Given the description of an element on the screen output the (x, y) to click on. 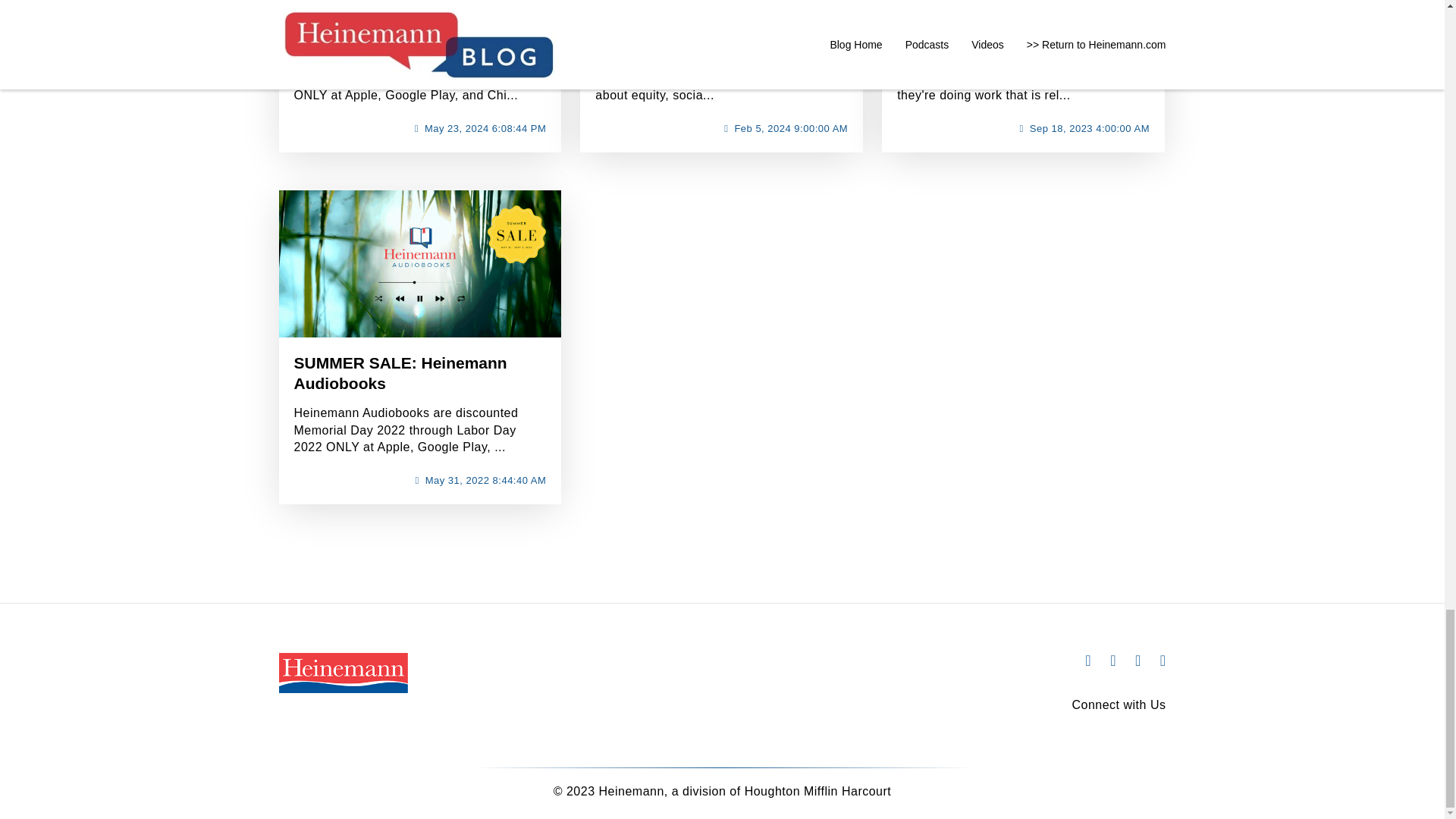
Heinemann-primary-logo-RGB (343, 672)
Heinemann Professional Books about Equity (714, 21)
Summer Sale for Teachers: Heinemann Audiobooks (396, 21)
